Given the description of an element on the screen output the (x, y) to click on. 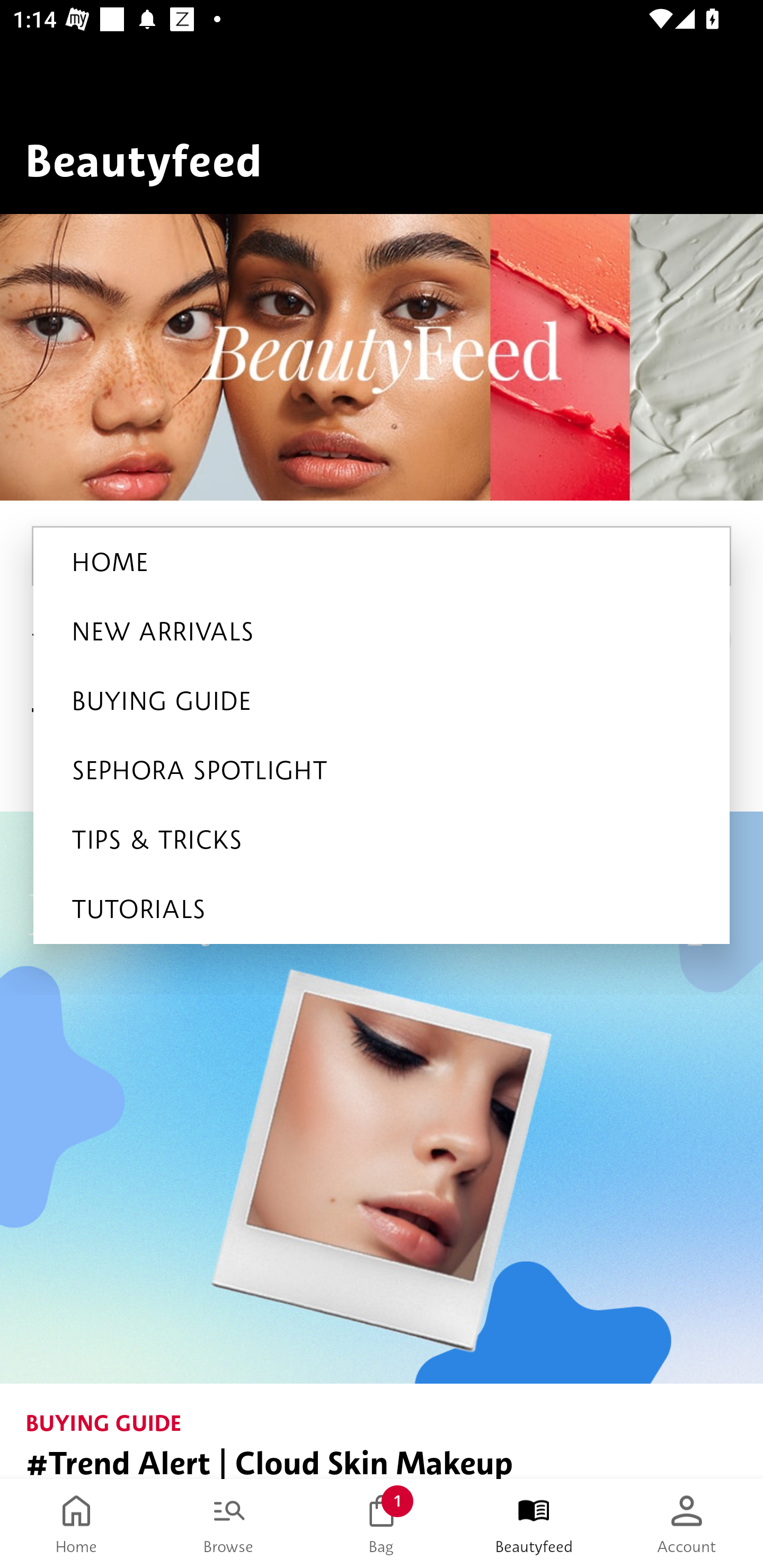
HOME (381, 561)
NEW ARRIVALS (381, 631)
BUYING GUIDE (381, 700)
SEPHORA SPOTLIGHT (381, 770)
TIPS & TRICKS (381, 839)
TUTORIALS (381, 908)
